Given the description of an element on the screen output the (x, y) to click on. 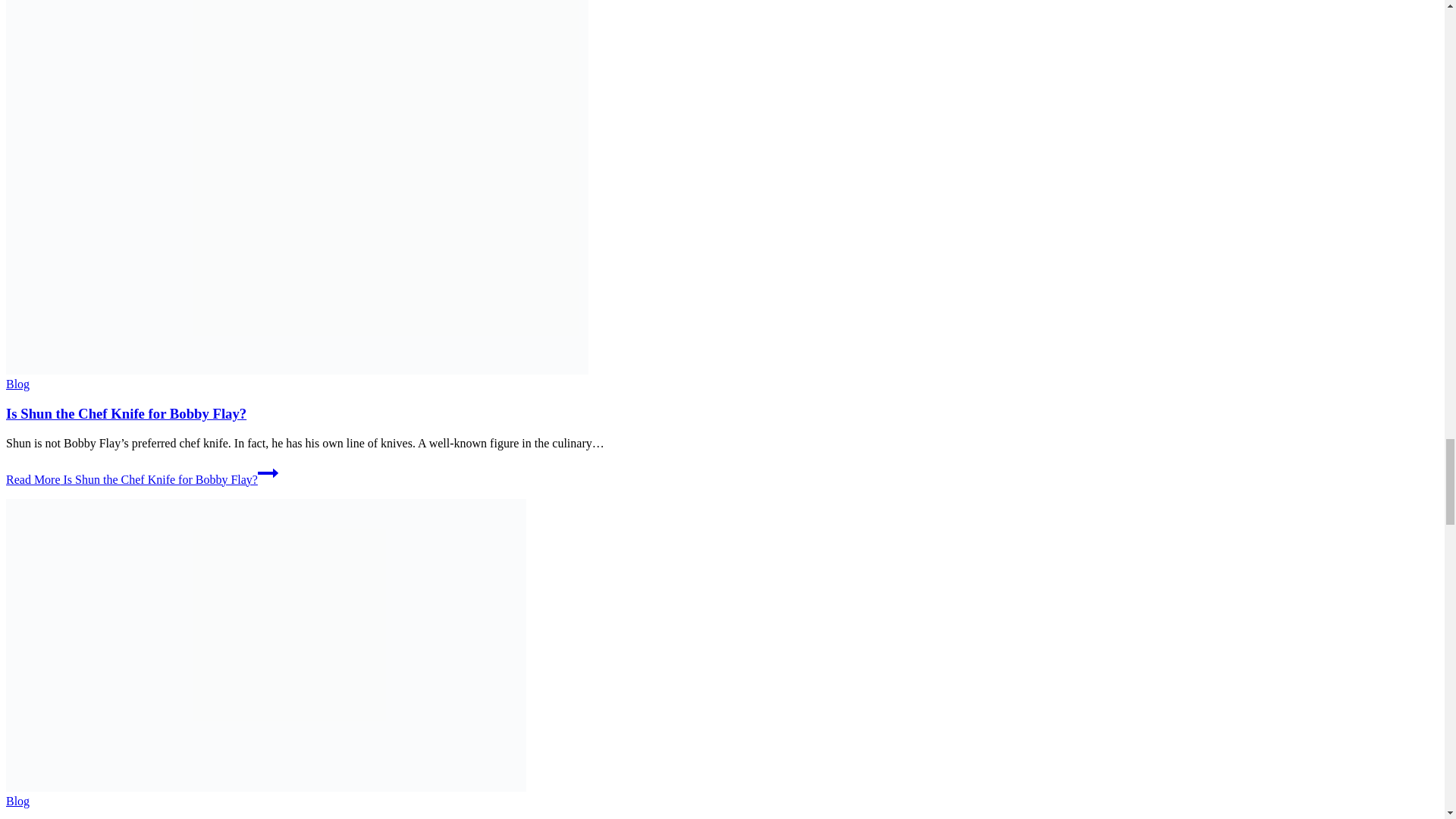
Is Shun the Chef Knife for Bobby Flay? (125, 413)
Continue (267, 473)
Blog (17, 800)
Read More Is Shun the Chef Knife for Bobby Flay?Continue (141, 479)
Blog (17, 383)
